Given the description of an element on the screen output the (x, y) to click on. 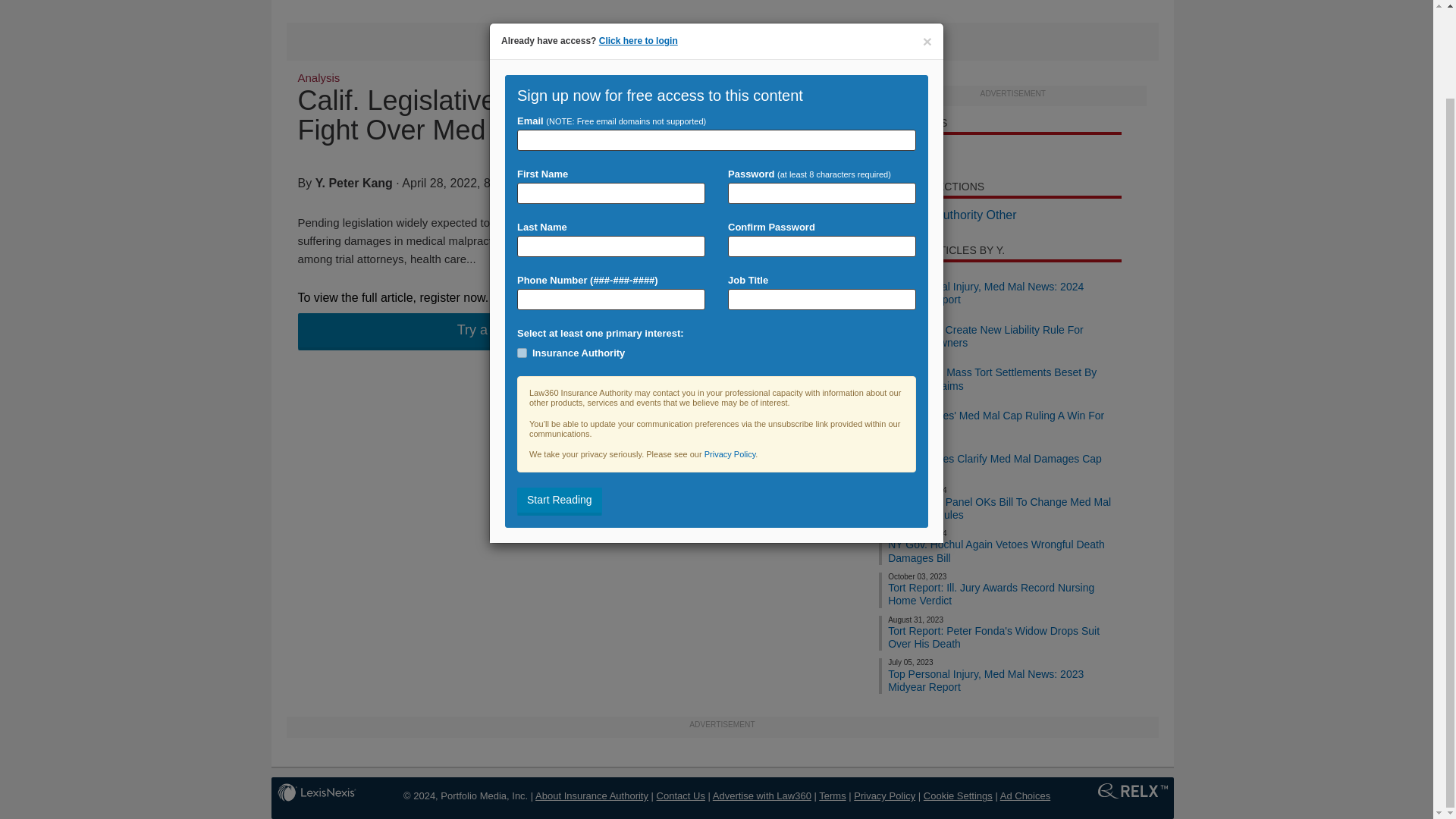
Try a seven day FREE Trial (540, 331)
Insurance Authority Other (947, 214)
Try Law360 Insurance Authority FREE for seven days (540, 331)
Insurance Authority (521, 252)
Select an Interest Area (715, 253)
insurance-authority-combined (521, 252)
Terms of Use (831, 795)
Privacy Policy (884, 795)
Advertise with Law360 (761, 795)
login (765, 50)
Click here to login (738, 362)
Subscribe (728, 50)
